Given the description of an element on the screen output the (x, y) to click on. 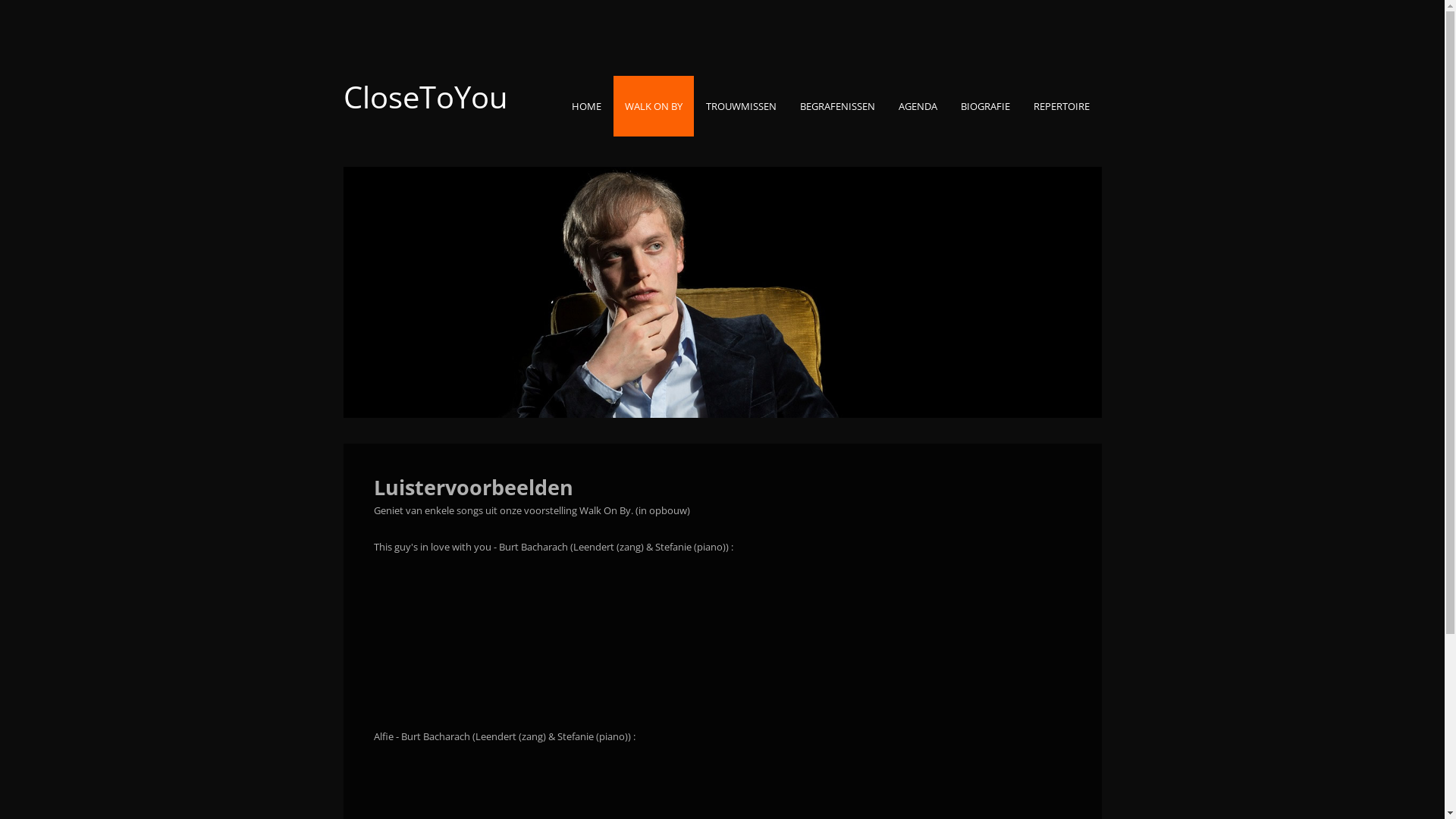
HOME Element type: text (585, 105)
YouTube video player Element type: hover (494, 629)
BIOGRAFIE Element type: text (985, 105)
CloseToYou Element type: text (424, 96)
AGENDA Element type: text (917, 105)
REPERTOIRE Element type: text (1061, 105)
BEGRAFENISSEN Element type: text (837, 105)
WALK ON BY Element type: text (652, 105)
TROUWMISSEN Element type: text (740, 105)
